Given the description of an element on the screen output the (x, y) to click on. 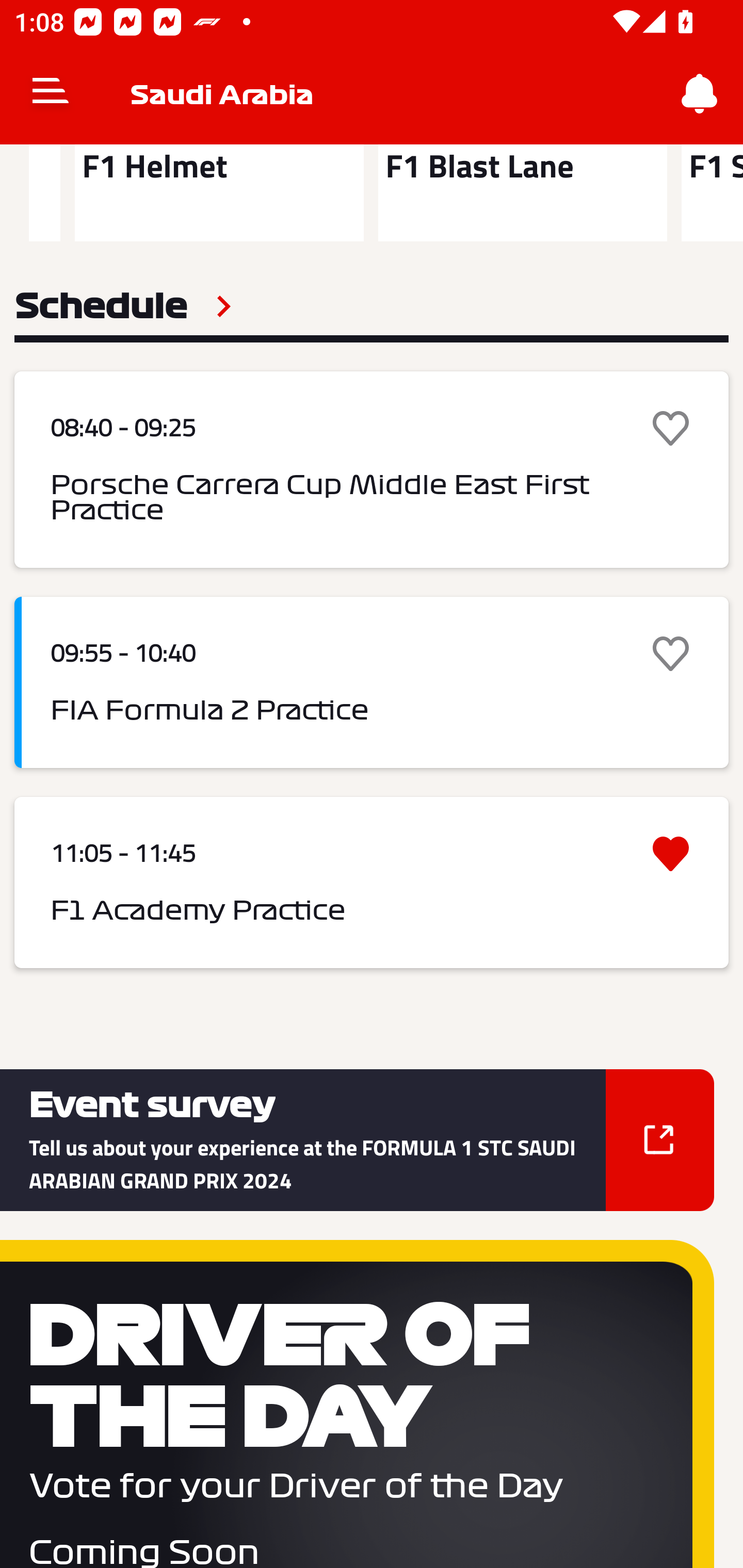
Navigate up (50, 93)
Notifications (699, 93)
F1 Helmet (219, 192)
F1 Blast Lane (522, 192)
Schedule (122, 306)
09:55 - 10:40 FIA Formula 2 Practice (371, 682)
11:05 - 11:45 F1 Academy Practice (371, 881)
